Given the description of an element on the screen output the (x, y) to click on. 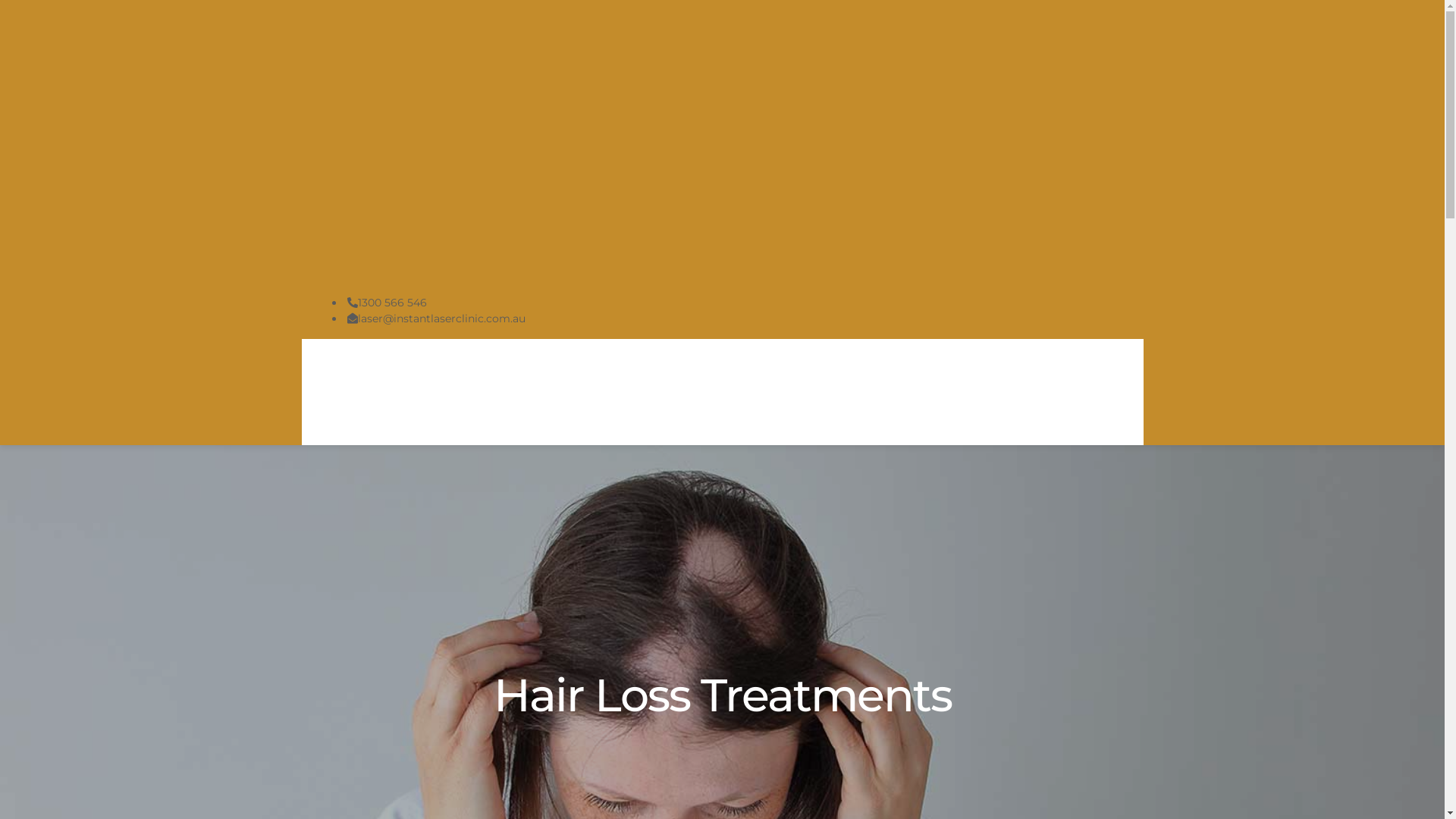
Fat & Cellulite Reduction Element type: text (641, 365)
Wellness Element type: text (941, 365)
Useful Links Element type: text (410, 418)
Shop Element type: text (1066, 365)
Contact Element type: text (334, 418)
Blog Element type: text (1116, 365)
Concerns Element type: text (448, 365)
Home Element type: text (329, 365)
Skin & Nail Element type: text (524, 365)
Surgery Element type: text (1008, 365)
Tattoo Related Element type: text (855, 365)
About Element type: text (383, 365)
Hair Related Element type: text (761, 365)
